Given the description of an element on the screen output the (x, y) to click on. 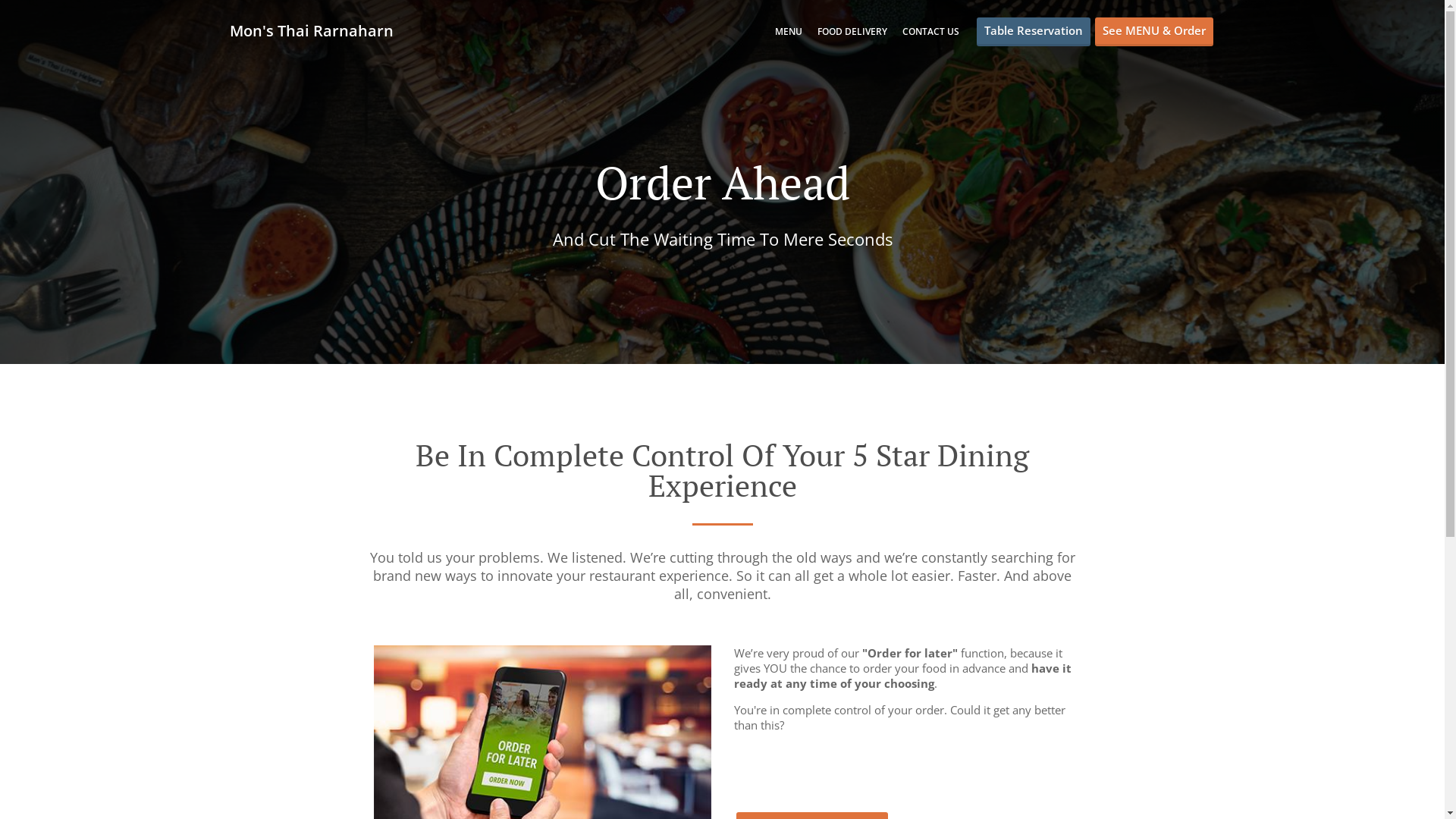
CONTACT US Element type: text (930, 31)
MENU Element type: text (788, 31)
FOOD DELIVERY Element type: text (852, 31)
Mon's Thai Rarnaharn Element type: text (318, 30)
